Given the description of an element on the screen output the (x, y) to click on. 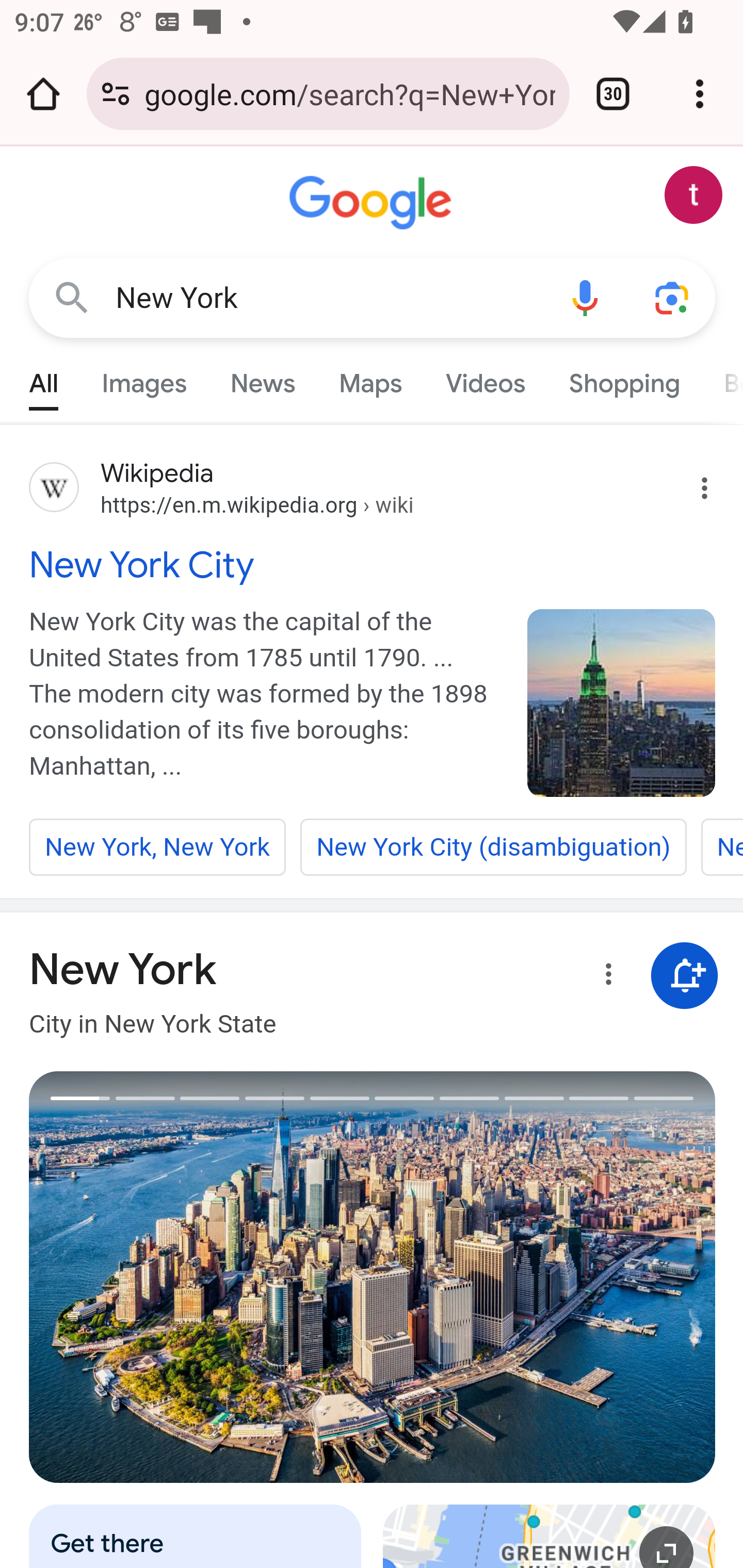
Open the home page (43, 93)
Connection is secure (115, 93)
Switch or close tabs (612, 93)
Customize and control Google Chrome (699, 93)
Google (372, 203)
Google Search (71, 296)
Search using your camera or photos (672, 296)
New York (328, 297)
Images (144, 378)
News (262, 378)
Maps (369, 378)
Videos (485, 378)
Shopping (623, 378)
New York City (372, 564)
New_York_City (621, 703)
New York, New York (157, 847)
New York City (disambiguation) (493, 847)
Get notifications about New York (684, 976)
More options (605, 976)
Previous image (200, 1276)
Next image (544, 1276)
Expand map (549, 1535)
